Given the description of an element on the screen output the (x, y) to click on. 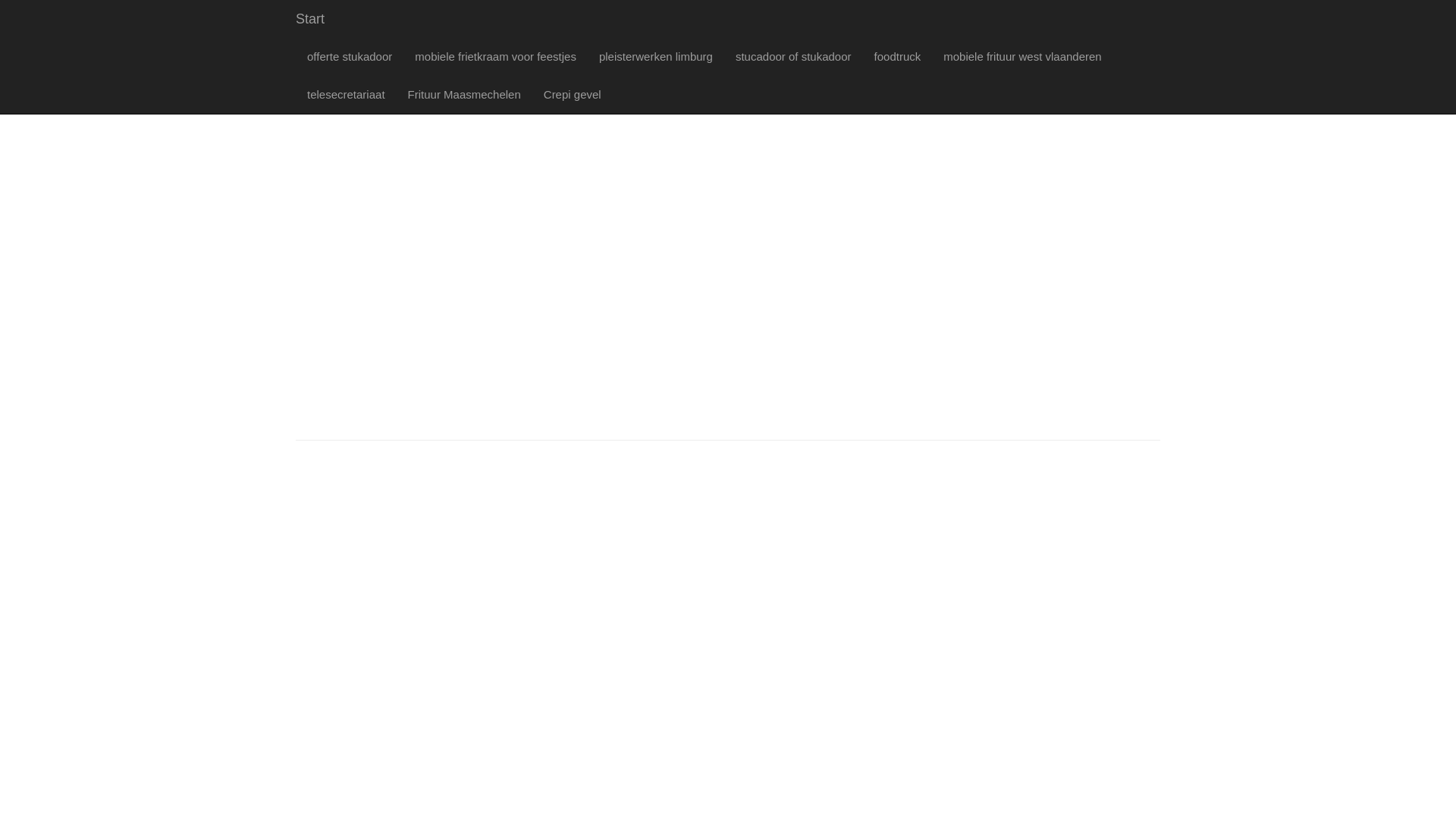
Start Element type: text (309, 18)
foodtruck Element type: text (897, 56)
mobiele frietkraam voor feestjes Element type: text (495, 56)
pleisterwerken limburg Element type: text (655, 56)
telesecretariaat Element type: text (345, 94)
Frituur Maasmechelen Element type: text (464, 94)
Crepi gevel Element type: text (572, 94)
offerte stukadoor Element type: text (349, 56)
stucadoor of stukadoor Element type: text (793, 56)
mobiele frituur west vlaanderen Element type: text (1021, 56)
